Given the description of an element on the screen output the (x, y) to click on. 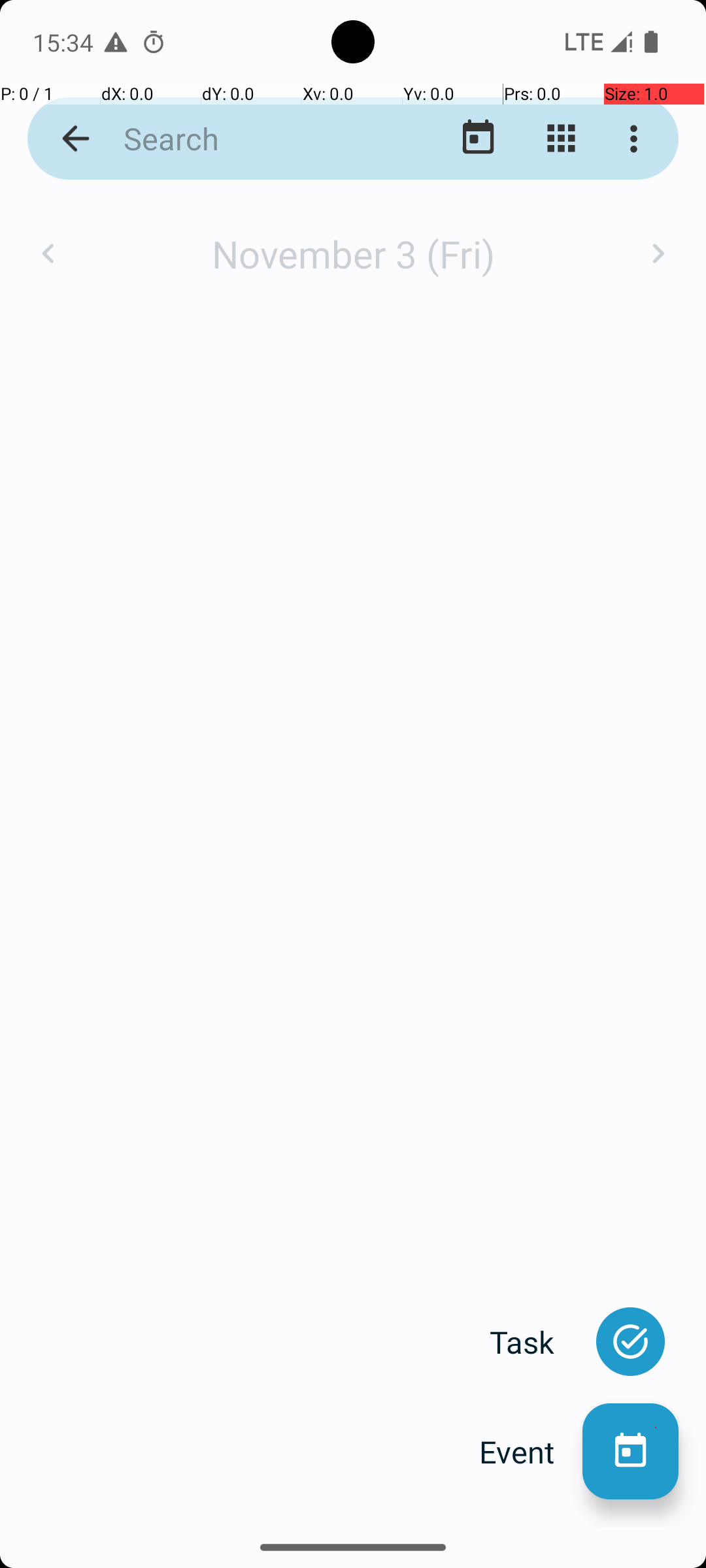
Task Element type: android.widget.TextView (535, 1341)
Event Element type: android.widget.TextView (530, 1451)
November 3 (Fri) Element type: android.widget.TextView (352, 253)
